Given the description of an element on the screen output the (x, y) to click on. 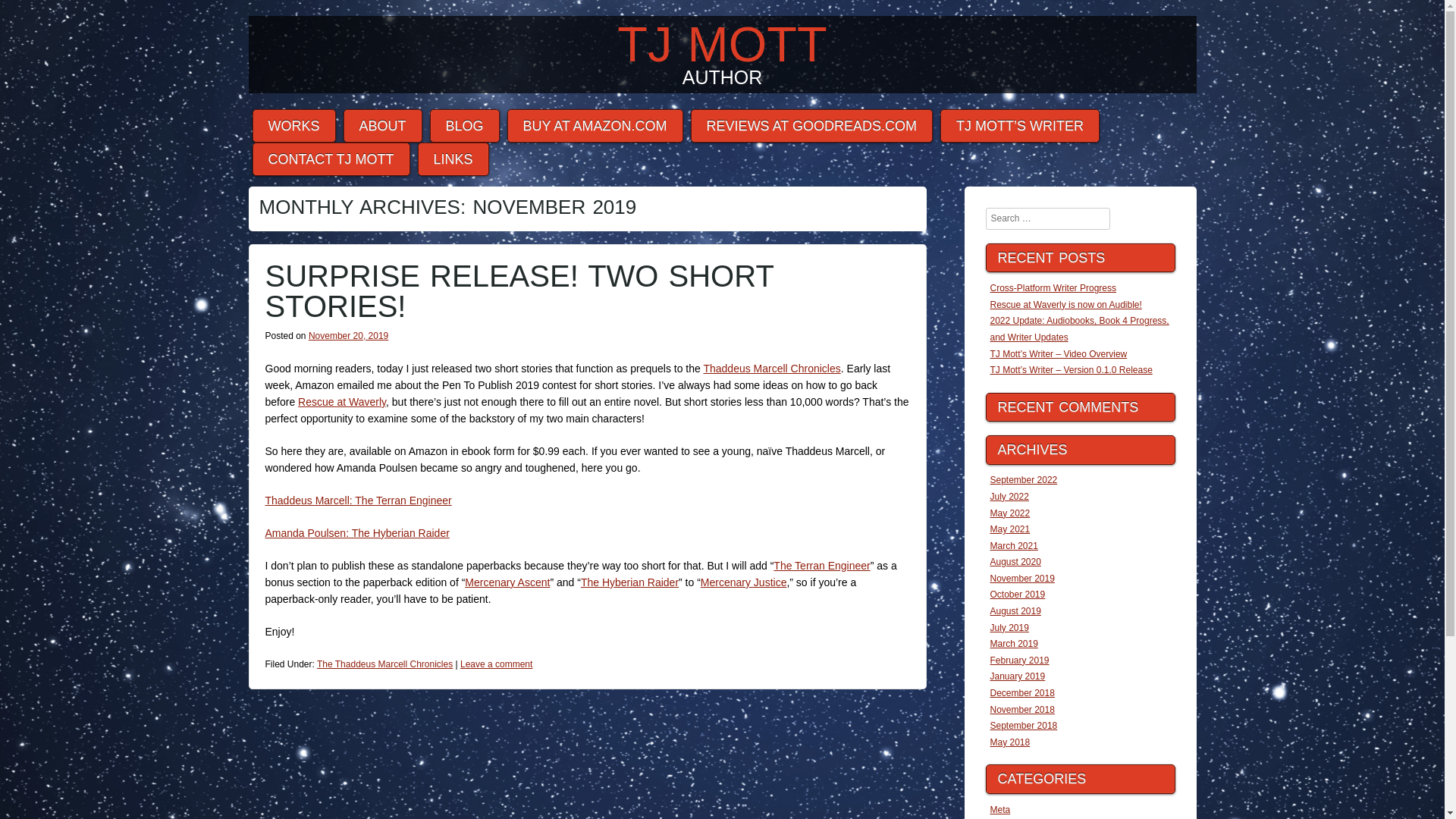
November 2019 (1022, 578)
BLOG (464, 125)
The Thaddeus Marcell Chronicles (384, 664)
May 2022 (1010, 512)
SURPRISE RELEASE! TWO SHORT STORIES! (519, 290)
Permalink to Surprise Release! Two Short Stories! (519, 290)
ABOUT (382, 125)
BUY AT AMAZON.COM (594, 125)
Mercenary Ascent (507, 582)
Cross-Platform Writer Progress (1053, 287)
